Given the description of an element on the screen output the (x, y) to click on. 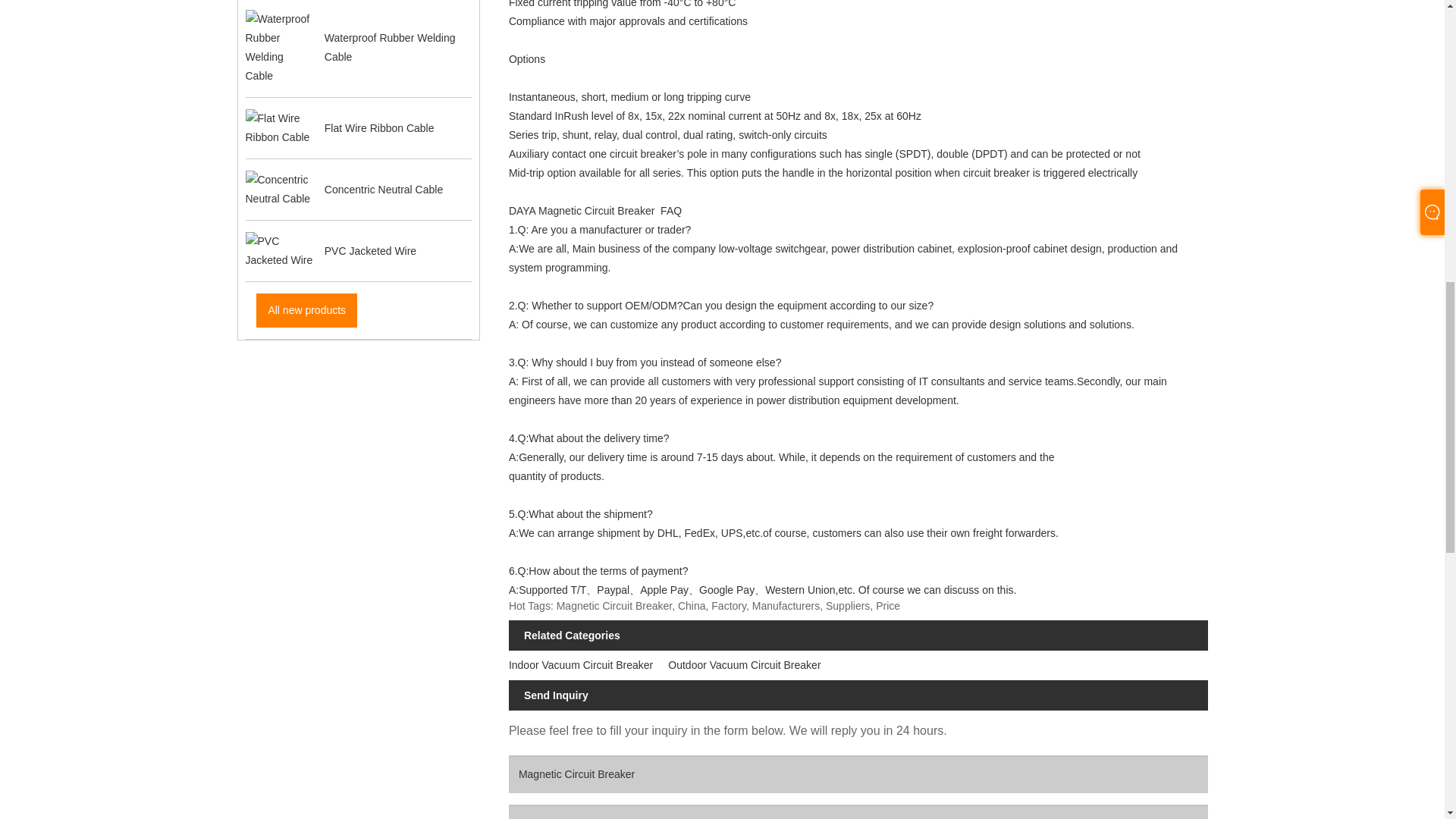
Magnetic Circuit Breaker (858, 774)
